Given the description of an element on the screen output the (x, y) to click on. 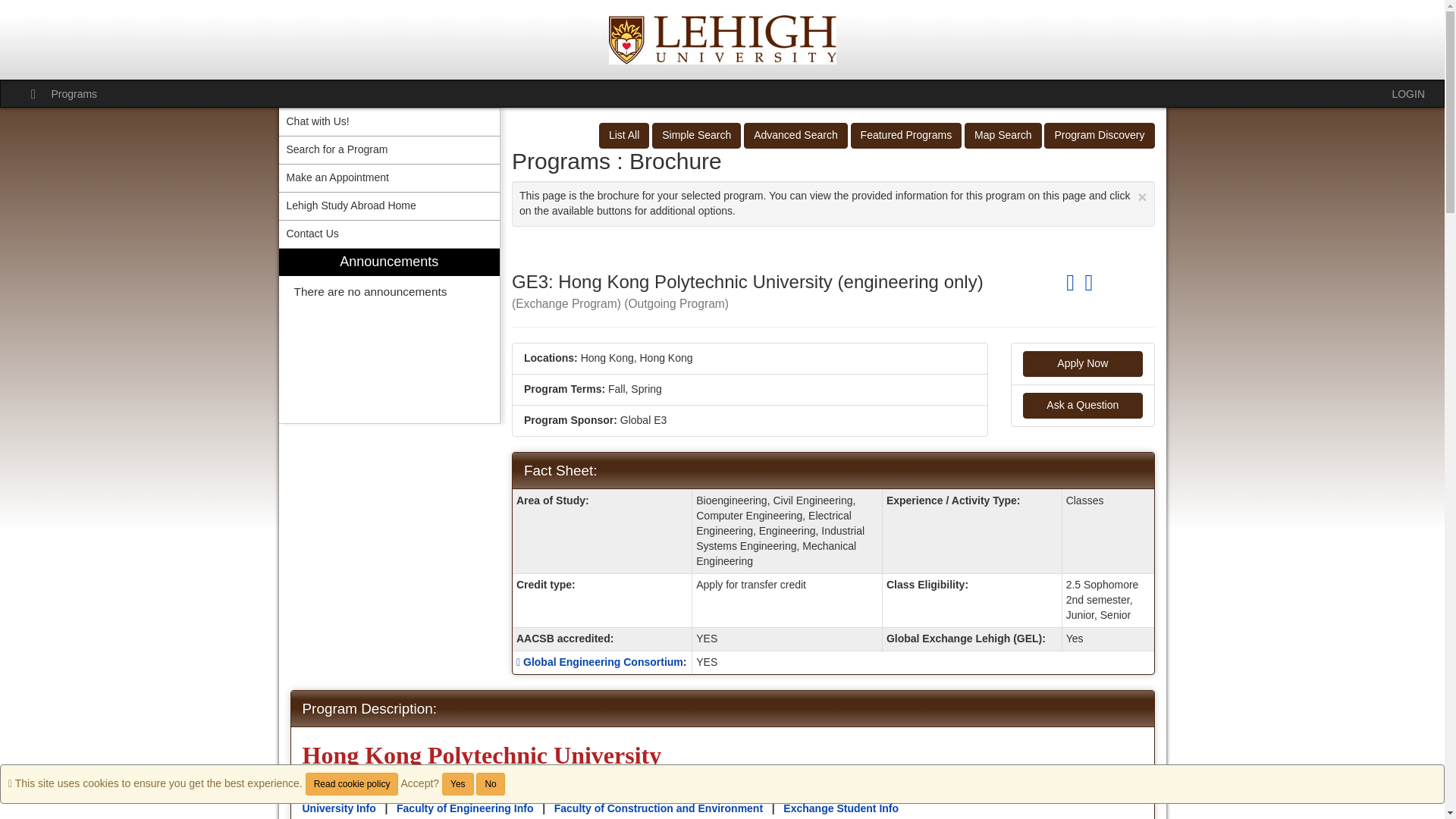
Featured Programs (906, 135)
Map Search (1002, 135)
Programs (73, 93)
Program Discovery (1098, 135)
Advanced Search (795, 135)
LOGIN (1408, 93)
Make an Appointment (389, 177)
Simple Search (696, 135)
Advanced Search (795, 135)
